Given the description of an element on the screen output the (x, y) to click on. 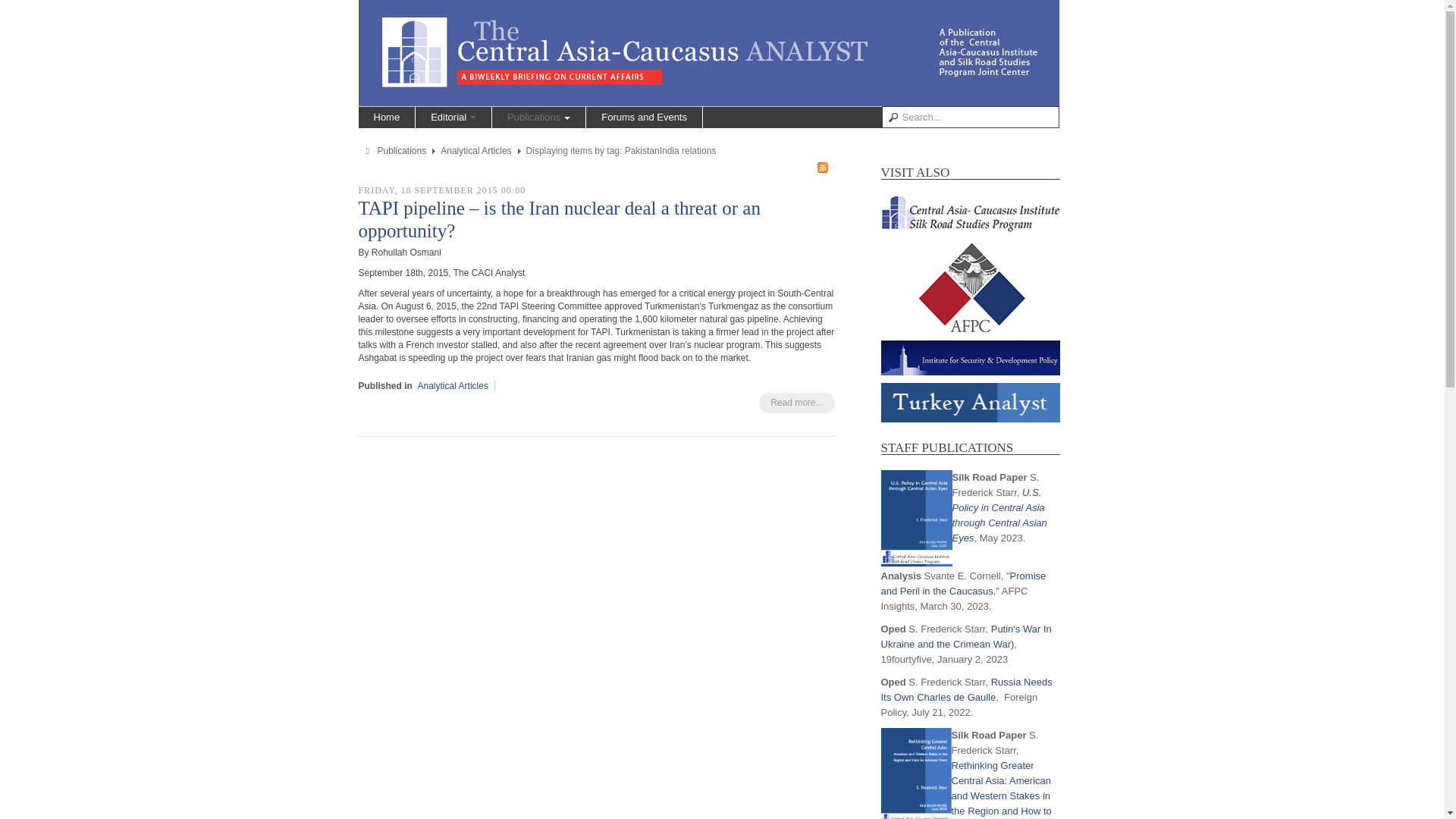
Read more... (796, 403)
Publications (401, 150)
Analytical Articles (476, 150)
Publications (538, 117)
Russia Needs Its Own Charles de Gaulle (966, 689)
U.S. Policy in Central Asia through Central Asian Eyes (999, 514)
Forums and Events (643, 117)
Promise and Peril in the Caucasus (963, 583)
Editorial (453, 117)
Home (386, 117)
Subscribe to this RSS feed (821, 167)
Analytical Articles (452, 385)
